Given the description of an element on the screen output the (x, y) to click on. 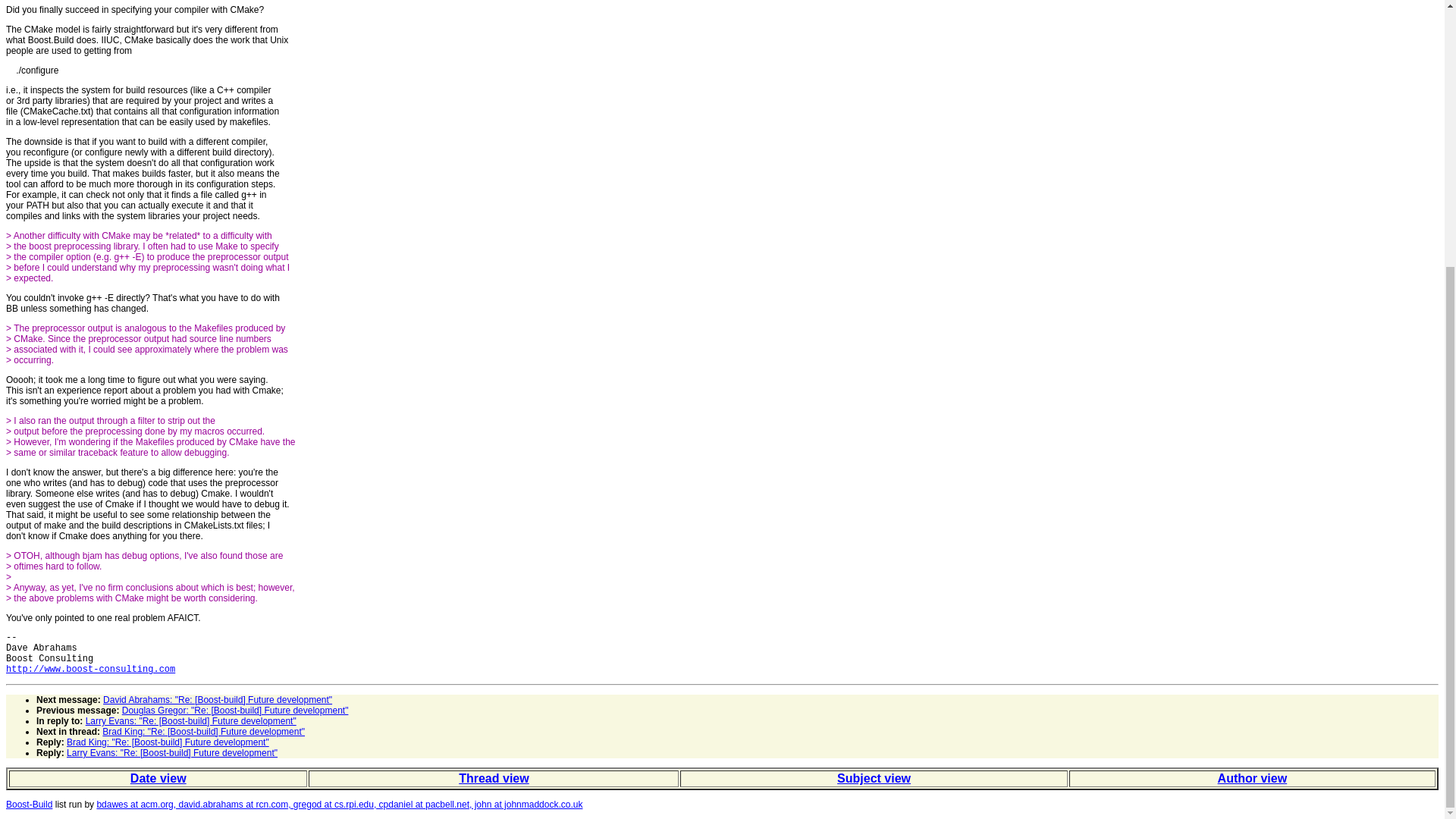
Thread view (493, 778)
Boost-Build (28, 804)
Author view (1252, 778)
Subject view (874, 778)
Date view (158, 778)
